Given the description of an element on the screen output the (x, y) to click on. 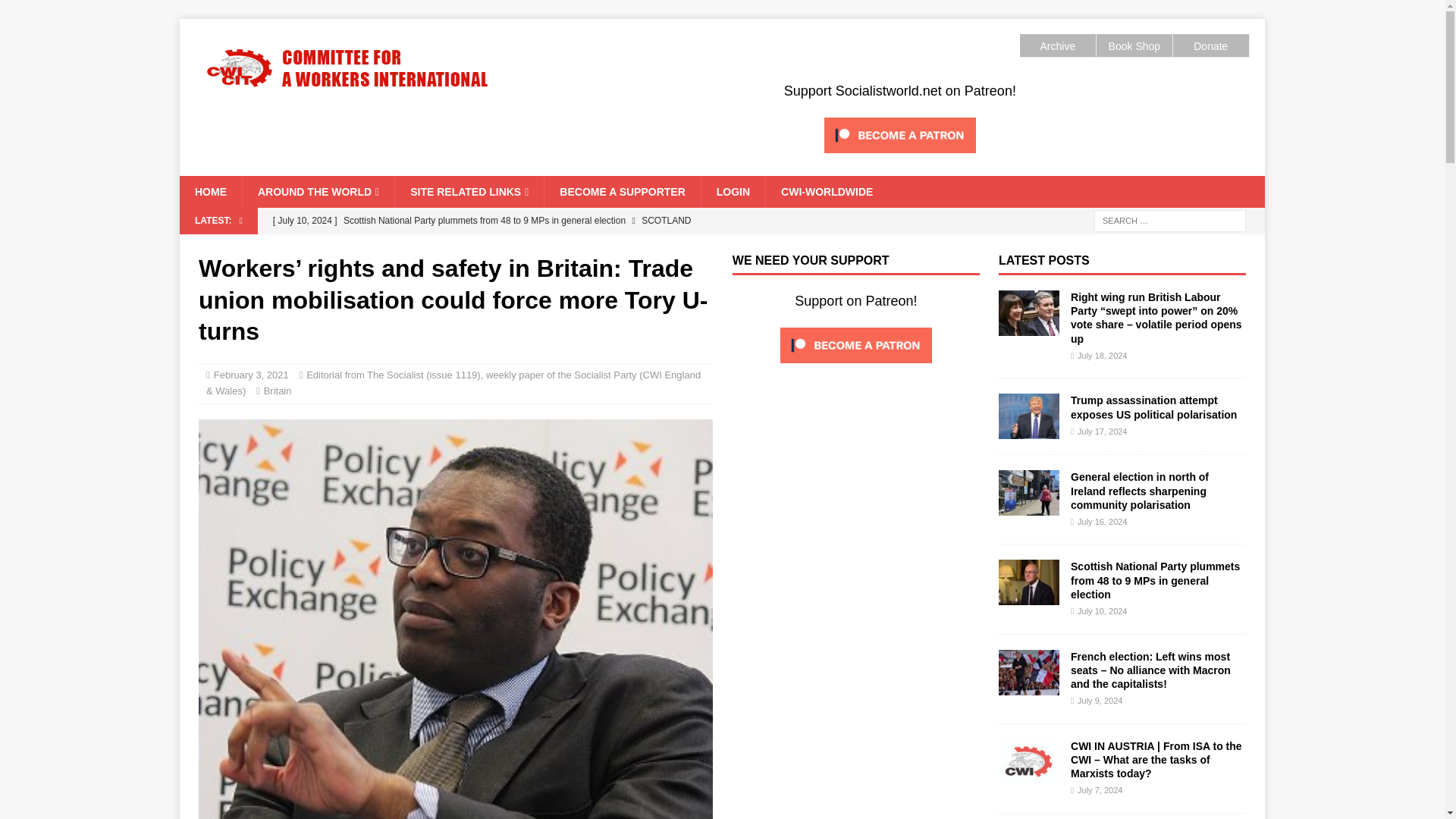
Book Shop (1134, 46)
Donate (1210, 46)
Archive (1057, 46)
